Given the description of an element on the screen output the (x, y) to click on. 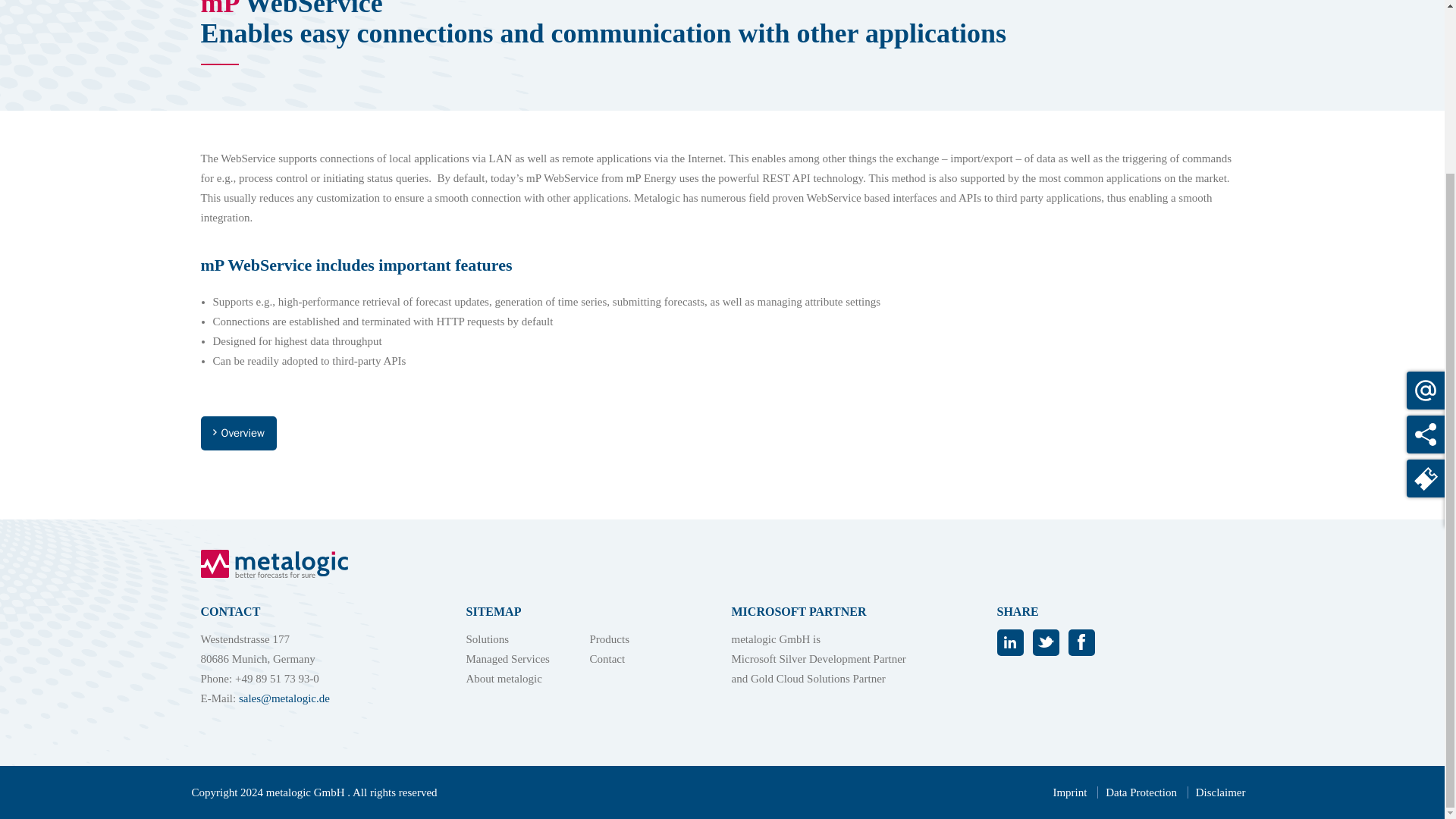
Overview (238, 433)
Imprint (1069, 792)
Managed Services (506, 658)
Imprint (1069, 792)
Disclaimer (1220, 792)
Disclaimer (1220, 792)
Products (609, 639)
About metalogic (503, 678)
Data Protection (1141, 792)
Contact (607, 658)
Data Protection (1141, 792)
Solutions (486, 639)
Overview (238, 433)
